Given the description of an element on the screen output the (x, y) to click on. 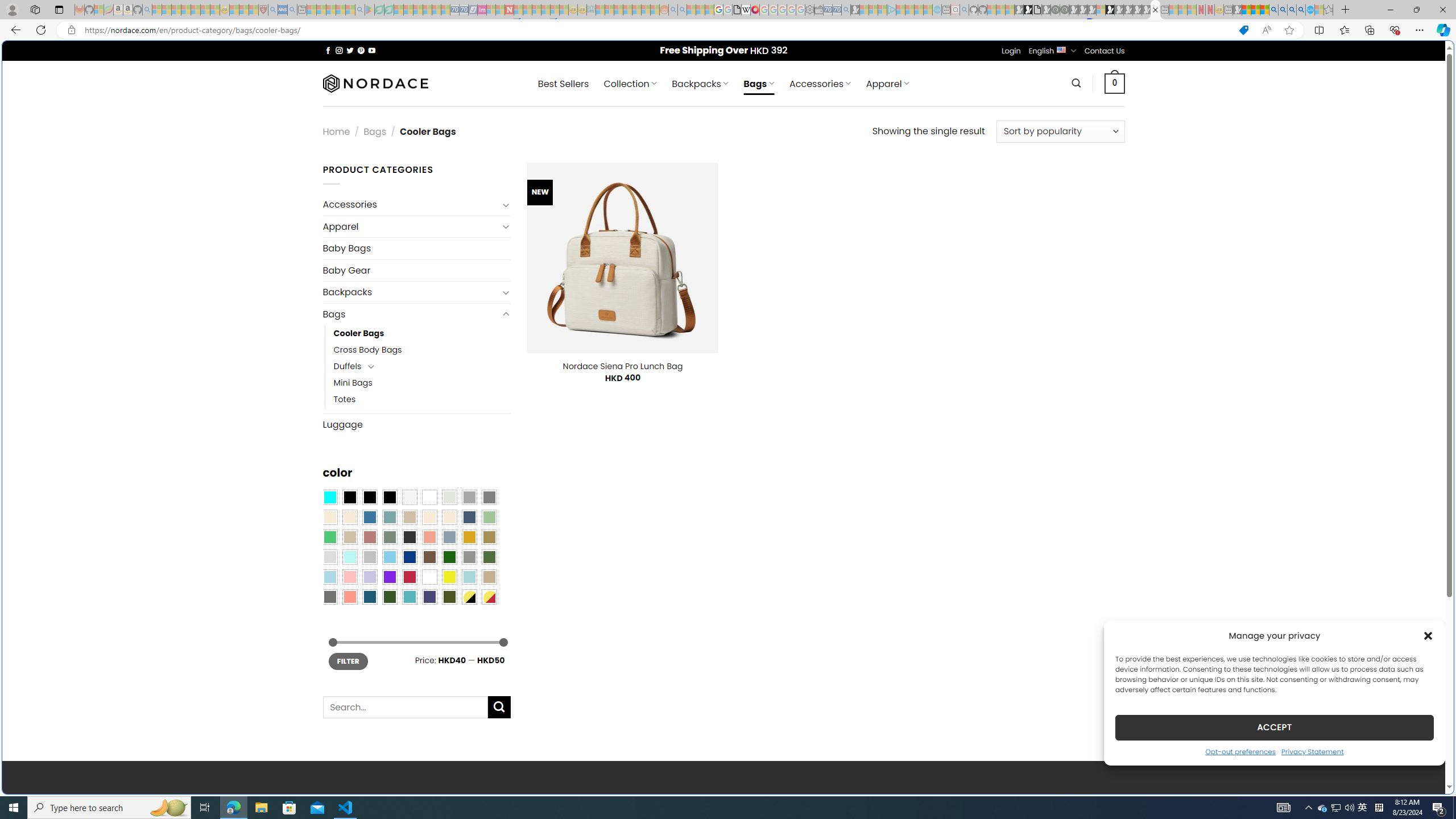
Dull Nickle (329, 596)
 0  (1115, 83)
FILTER (347, 661)
Yellow (449, 577)
Beige (329, 517)
Purple Navy (429, 596)
ACCEPT (1274, 727)
